Given the description of an element on the screen output the (x, y) to click on. 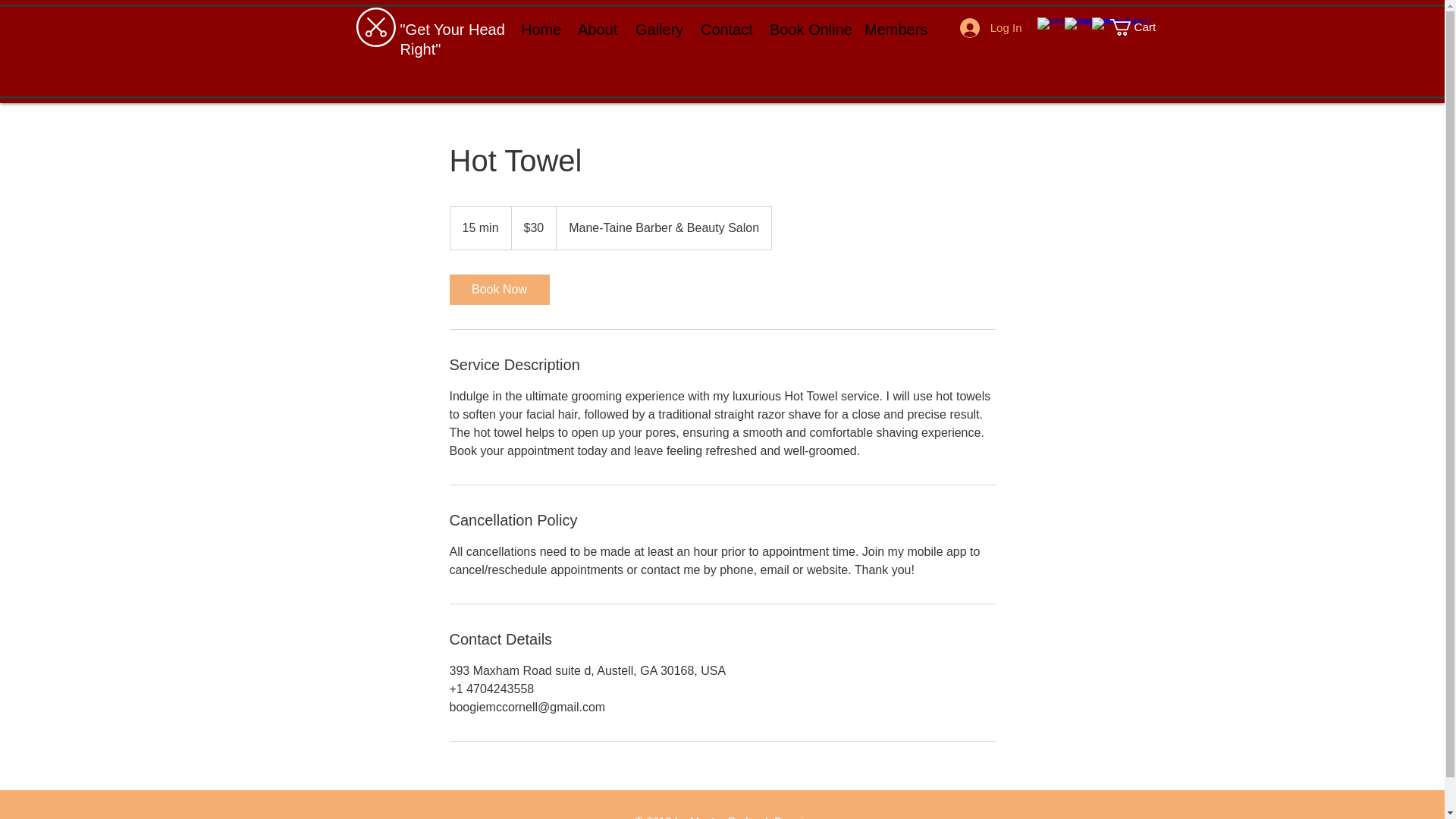
Gallery (656, 29)
Book Now (498, 289)
Cart (1140, 27)
Contact (723, 29)
Cart (1140, 27)
About (595, 29)
Book Online (805, 29)
Members (893, 29)
Log In (990, 27)
Home (537, 29)
